Given the description of an element on the screen output the (x, y) to click on. 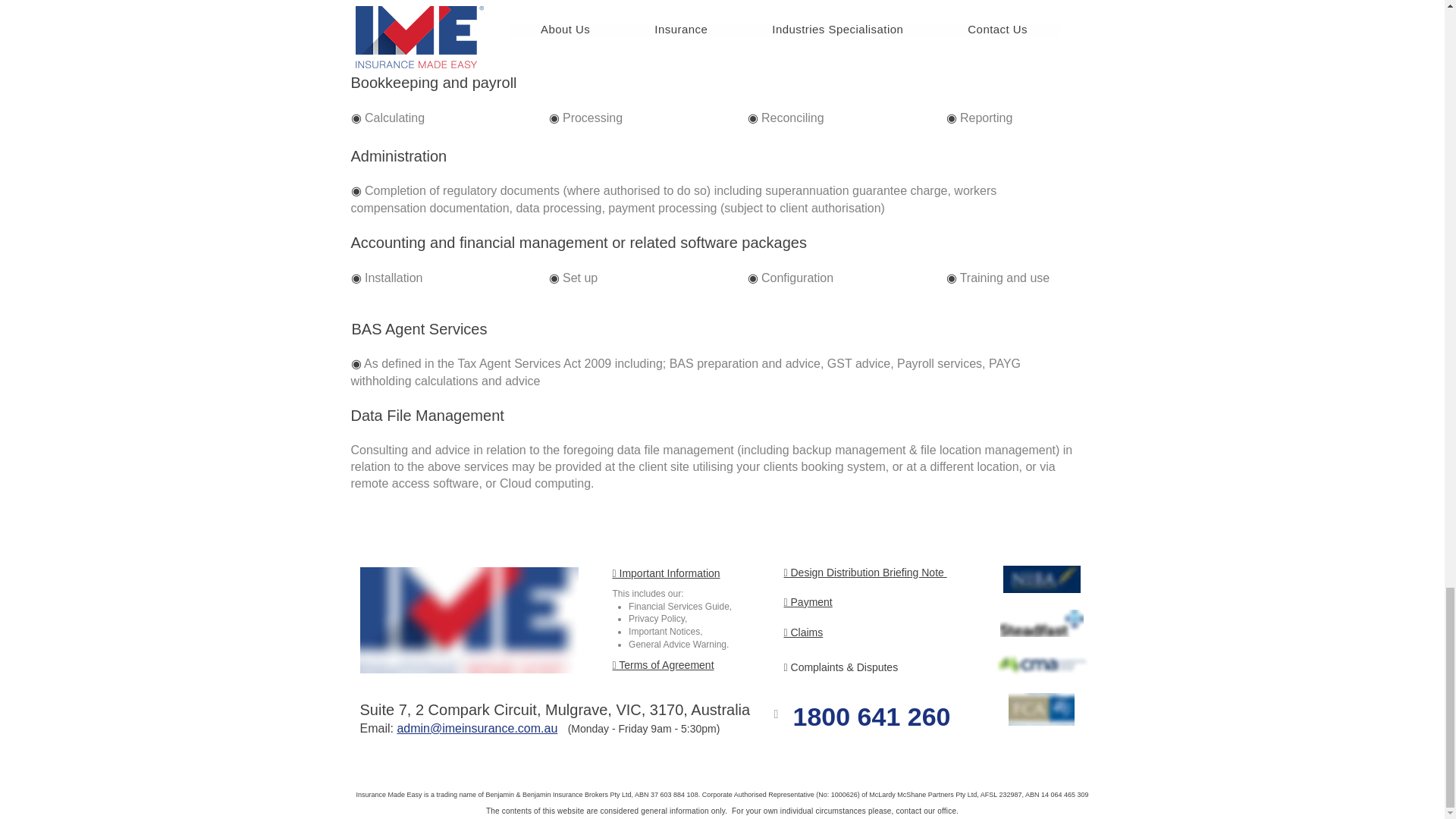
IME-logo-removed-brokers-since.png (468, 620)
NIBA.jpg (1041, 708)
